Given the description of an element on the screen output the (x, y) to click on. 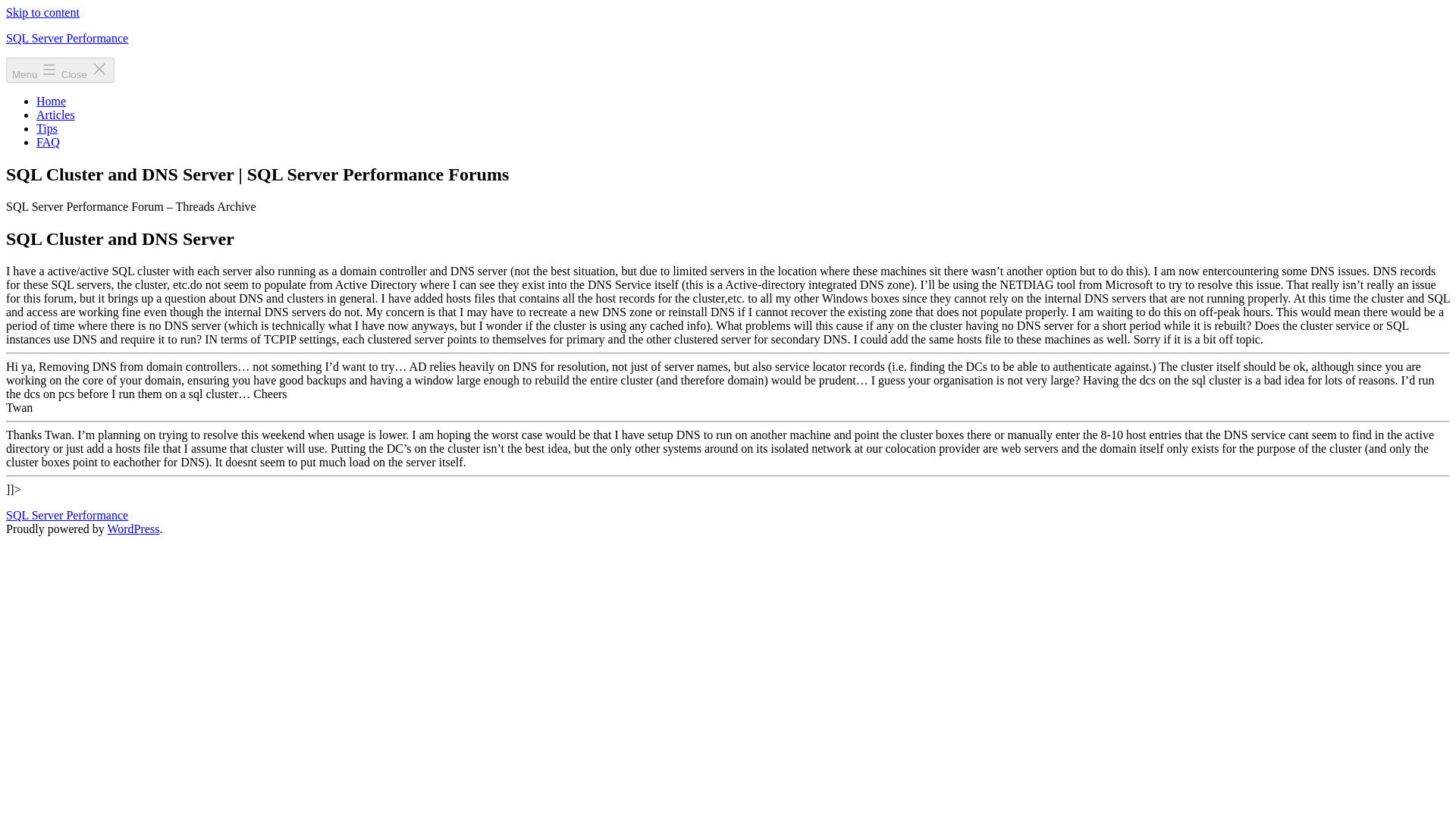
Skip to content (42, 11)
SQL Server Performance (66, 514)
Tips (47, 128)
Menu Close (60, 69)
Articles (55, 114)
FAQ (47, 141)
